Given the description of an element on the screen output the (x, y) to click on. 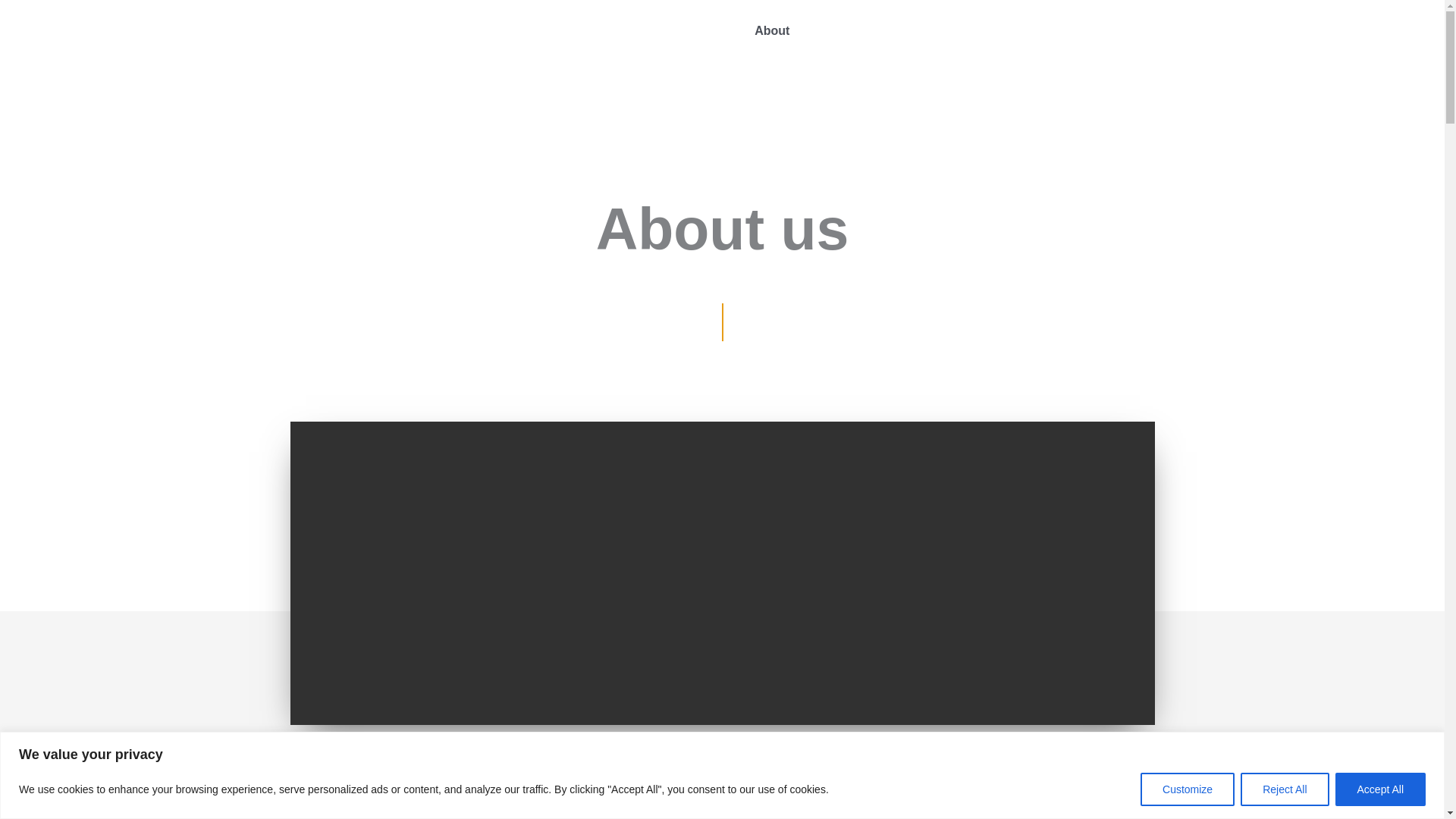
About (772, 30)
Download (1318, 30)
Contact (1394, 30)
Smart Product (934, 30)
Reject All (1283, 788)
Customize (1187, 788)
OEM for Hardware (1053, 30)
Hardware (841, 30)
OEM for Smart Product (1198, 30)
Accept All (1380, 788)
